Given the description of an element on the screen output the (x, y) to click on. 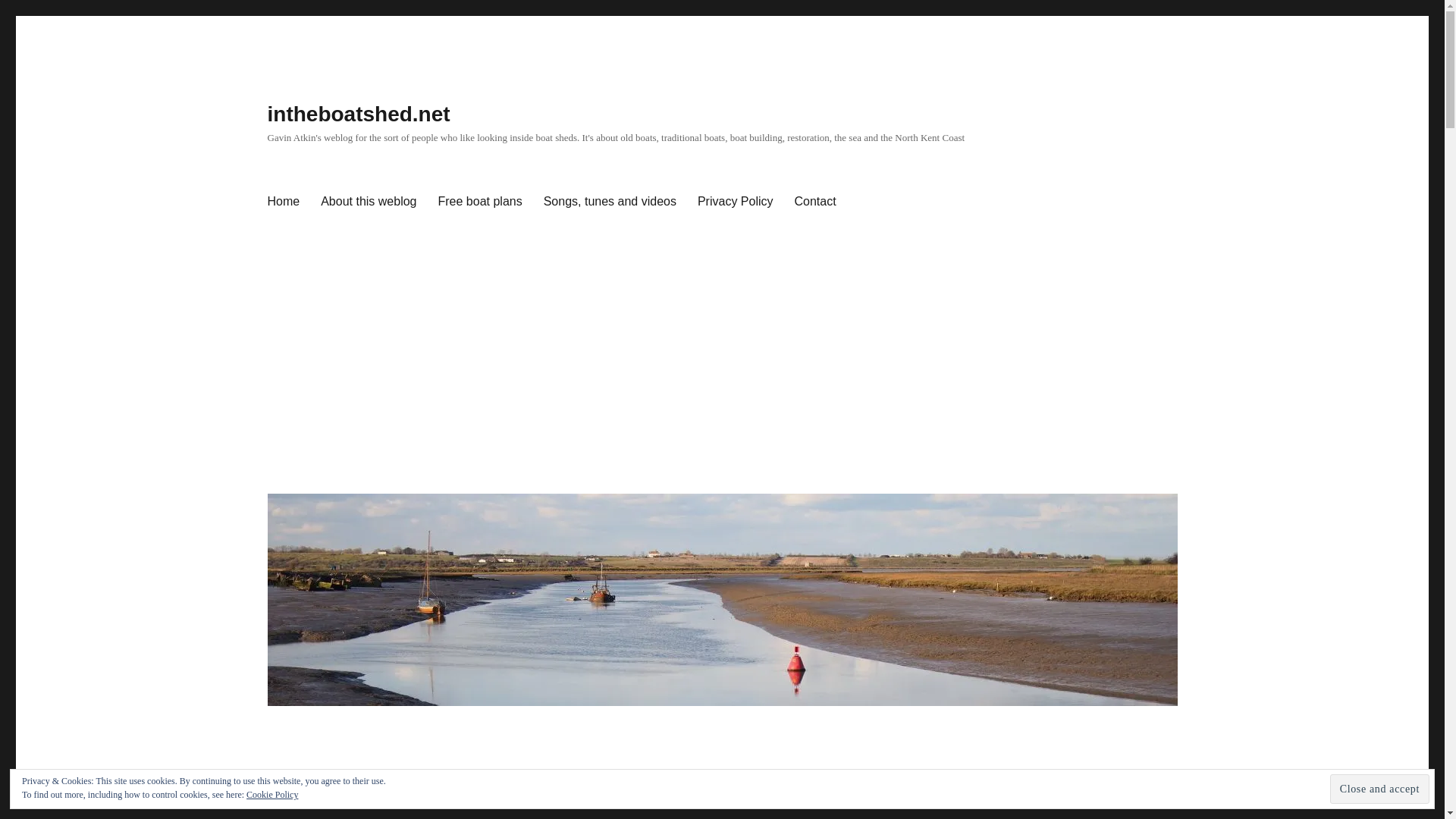
About this weblog (368, 201)
Close and accept (1379, 788)
Songs, tunes and videos (609, 201)
Home (283, 201)
Privacy Policy (735, 201)
intheboatshed.net (357, 114)
Contact (815, 201)
Free boat plans (480, 201)
